Given the description of an element on the screen output the (x, y) to click on. 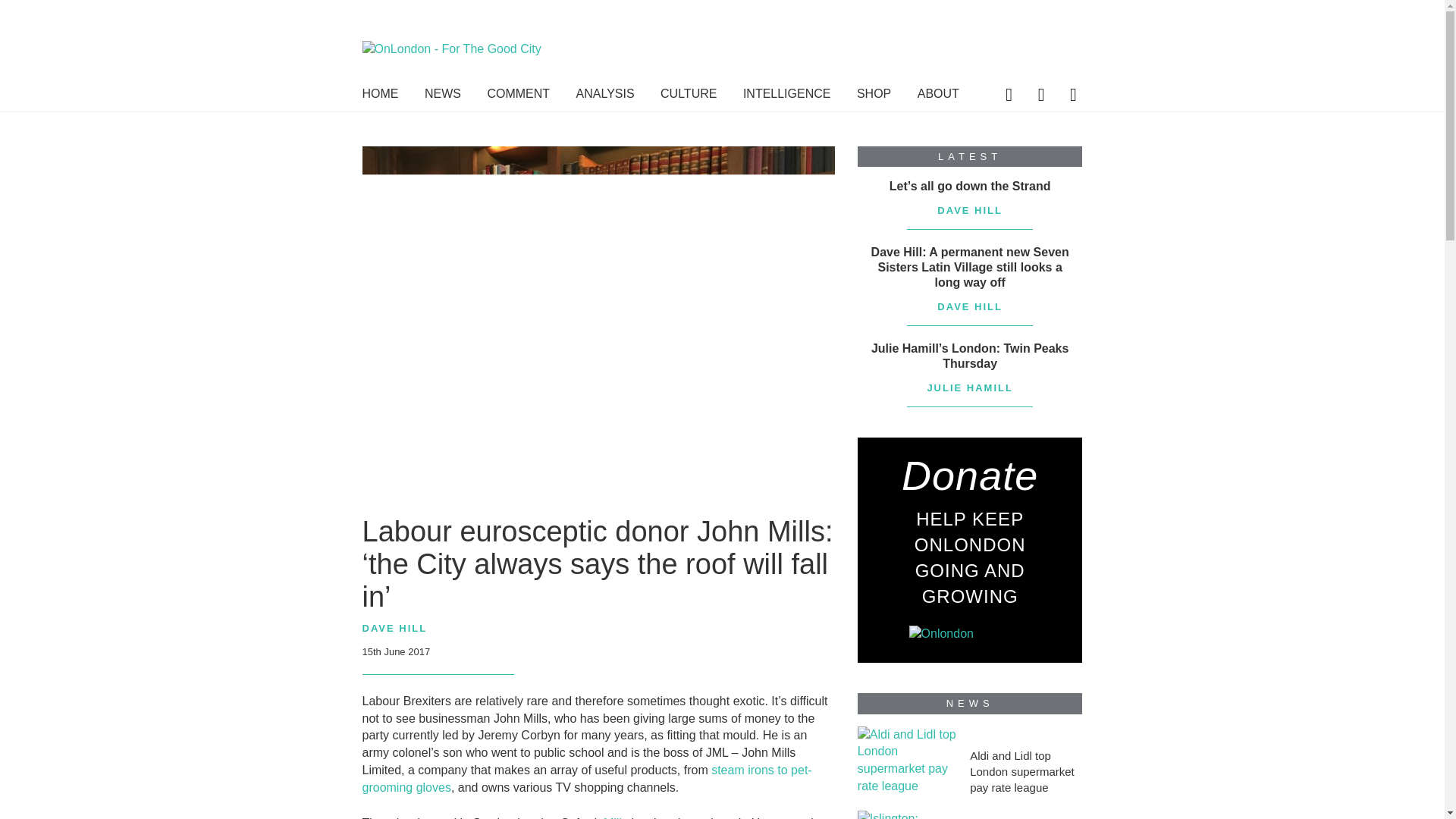
SHOP (874, 96)
steam irons to pet-grooming gloves (587, 778)
Mills (615, 817)
COMMENT (518, 96)
DONATE (985, 38)
DAVE HILL (395, 628)
Aldi and Lidl top London supermarket pay rate league (907, 760)
NEWS (443, 96)
Aldi and Lidl top London supermarket pay rate league (1025, 771)
HOME (380, 96)
